Given the description of an element on the screen output the (x, y) to click on. 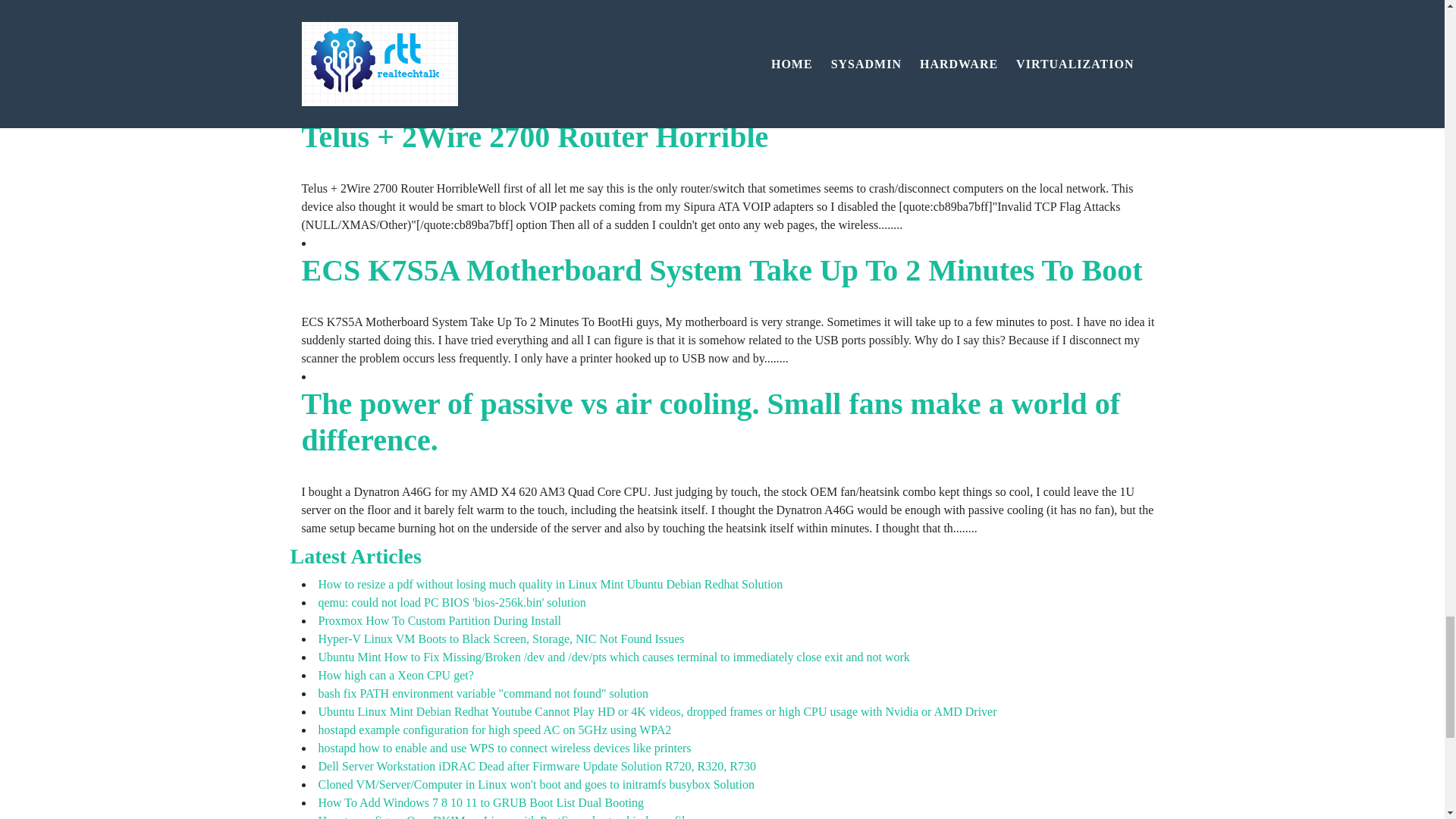
ECS K7S5A Motherboard System Take Up To 2 Minutes To Boot (721, 270)
Latest Articles (354, 556)
Proxmox How To Custom Partition During Install (439, 620)
qemu: could not load PC BIOS 'bios-256k.bin' solution (452, 602)
